Given the description of an element on the screen output the (x, y) to click on. 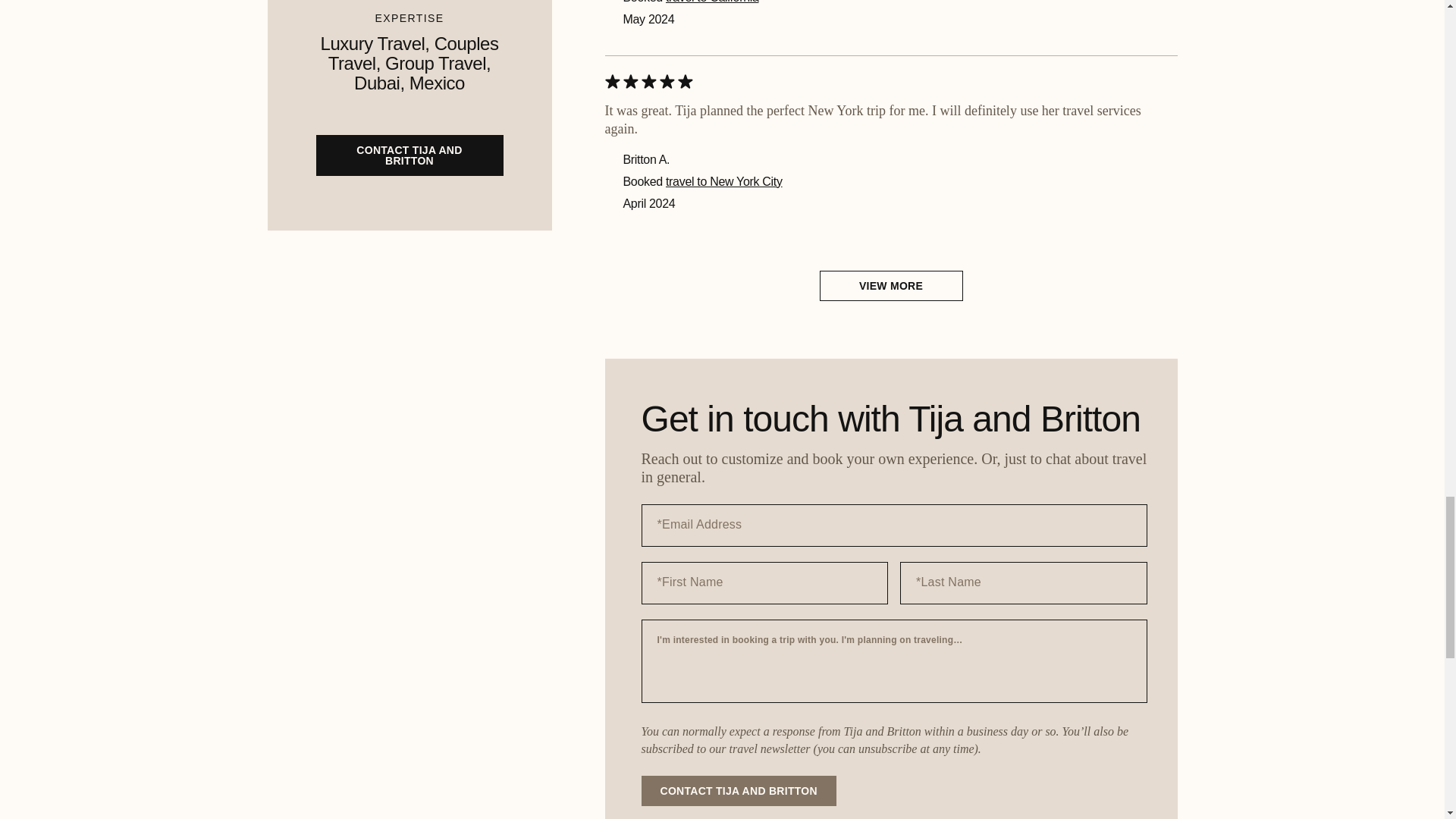
travel to New York City (724, 181)
travel to California (711, 2)
VIEW MORE (890, 286)
CONTACT TIJA AND BRITTON (738, 790)
